Given the description of an element on the screen output the (x, y) to click on. 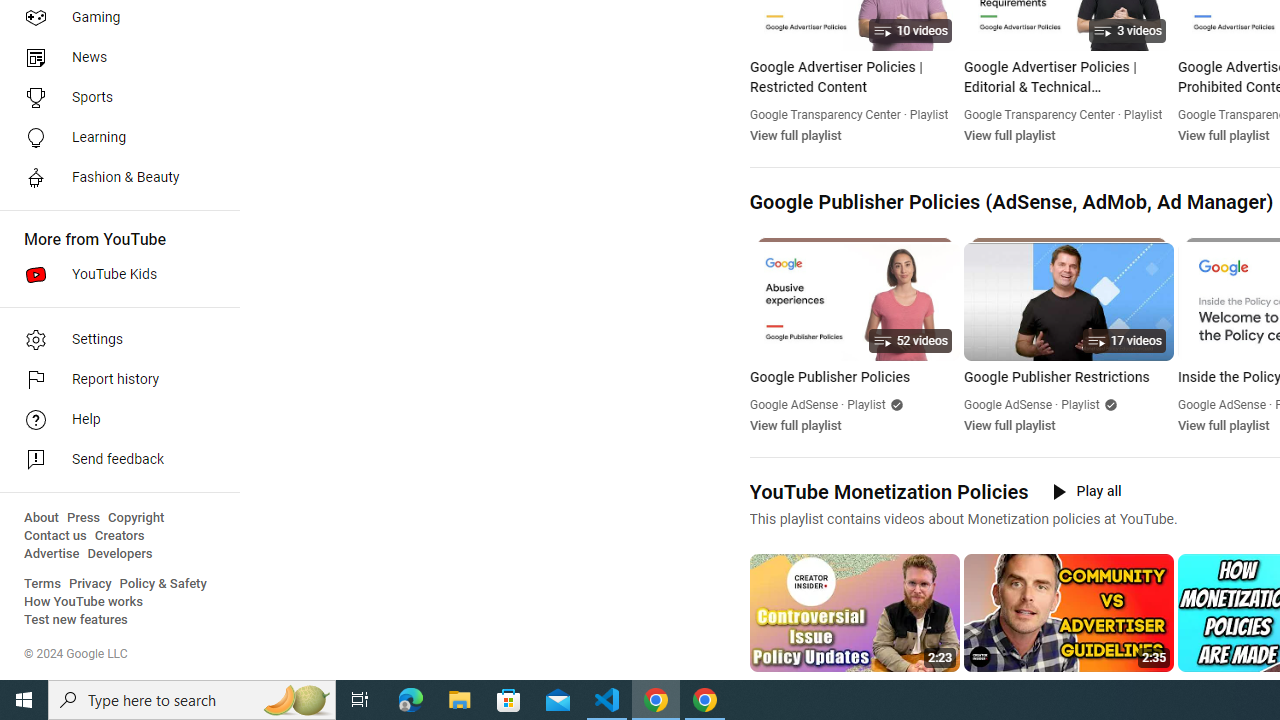
Google Transparency Center (1039, 114)
Advertise (51, 554)
YouTube Kids (113, 274)
About (41, 518)
